Given the description of an element on the screen output the (x, y) to click on. 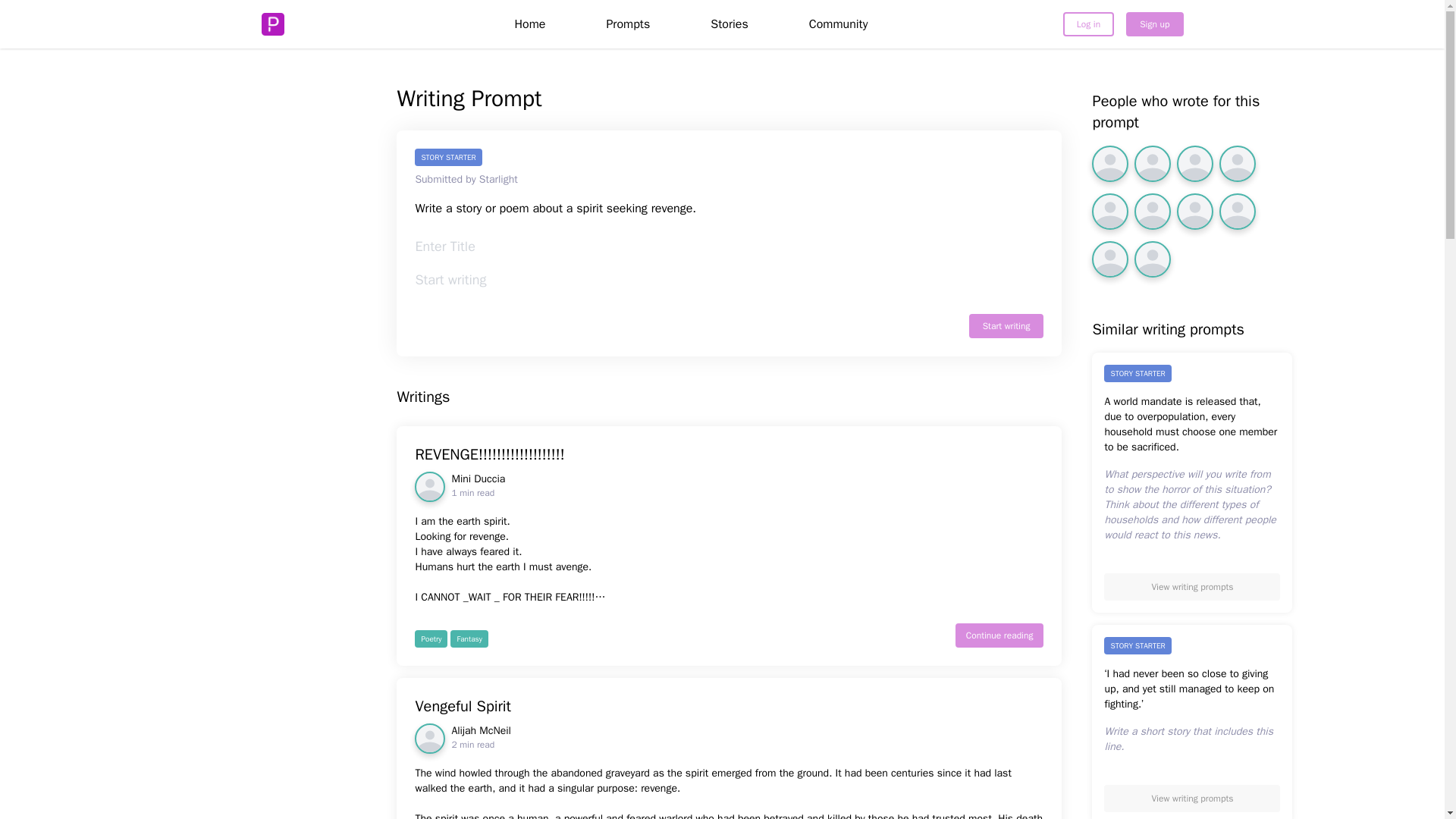
Log in (1087, 24)
REVENGE!!!!!!!!!!!!!!!!!!! (478, 486)
Start writing (728, 455)
Stories (481, 738)
Home (1006, 325)
Continue reading (729, 24)
Sign up (529, 24)
Prompts (999, 635)
Poetry (1153, 24)
Vengeful Spirit (628, 24)
Fantasy (430, 638)
Community (728, 706)
